Given the description of an element on the screen output the (x, y) to click on. 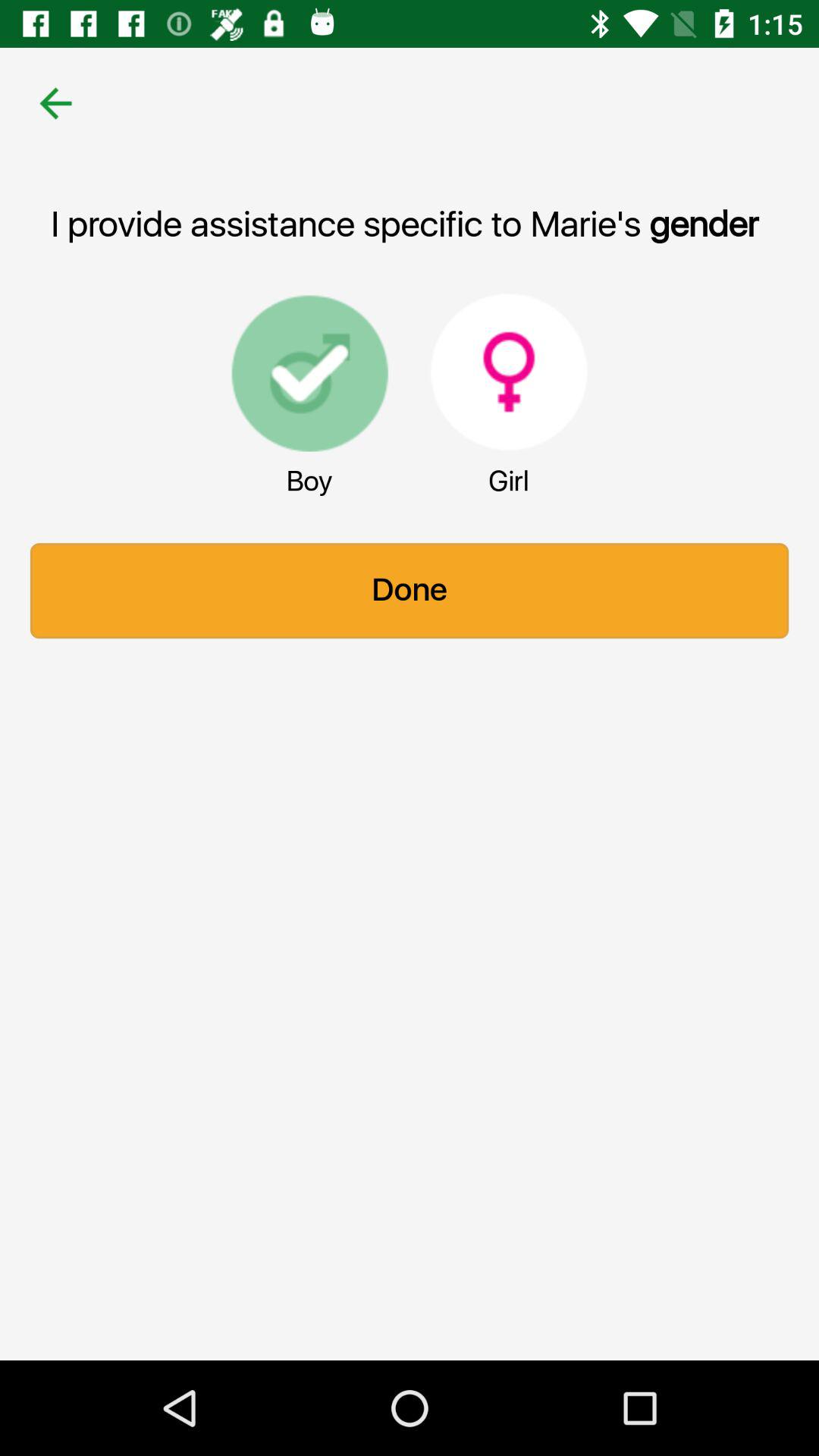
select girl (508, 371)
